Given the description of an element on the screen output the (x, y) to click on. 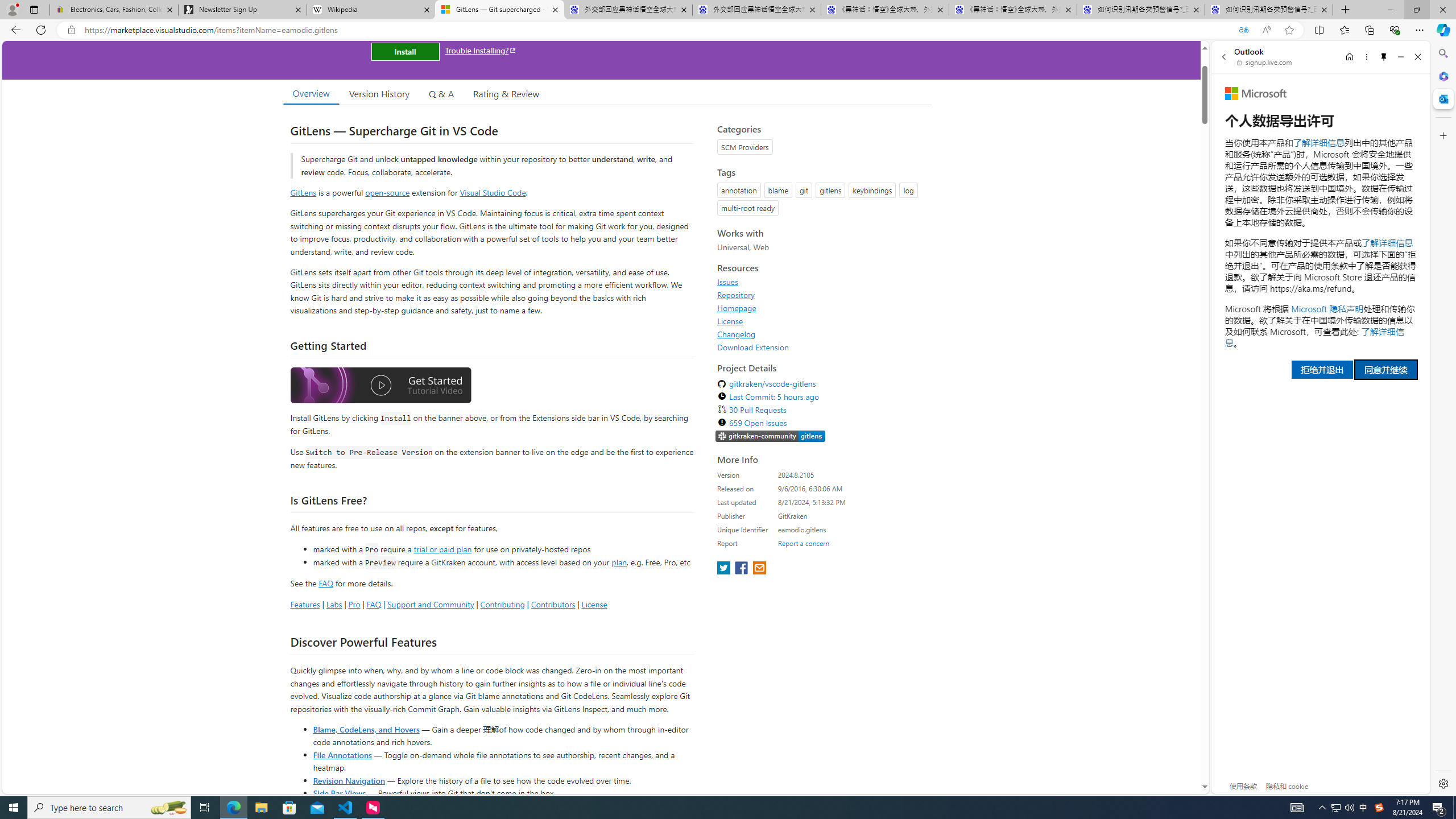
Wikipedia (370, 9)
Report a concern (803, 542)
Download Extension (753, 346)
GitLens (303, 192)
Contributing (502, 603)
Labs (334, 603)
